Given the description of an element on the screen output the (x, y) to click on. 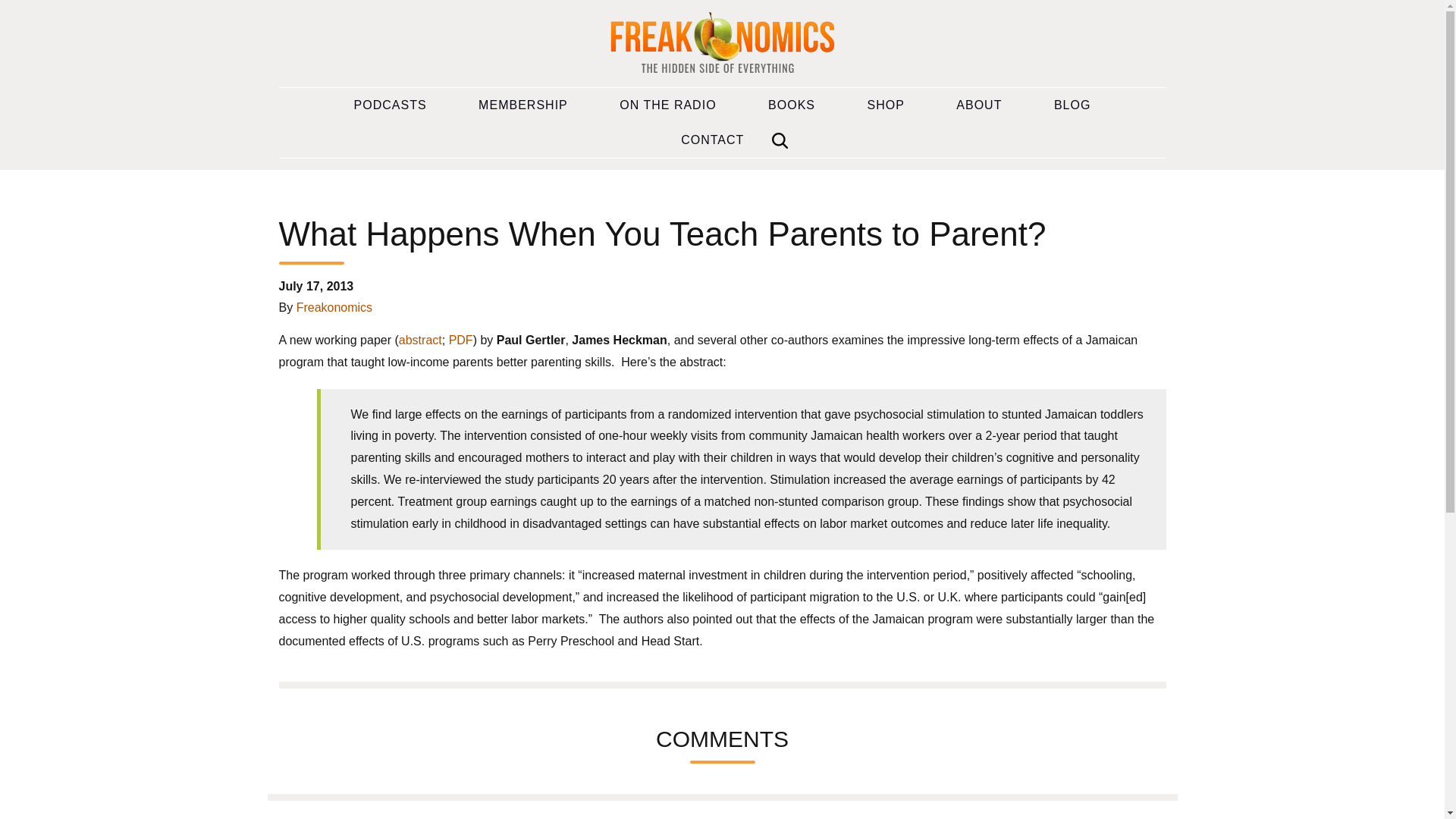
BLOG (1072, 104)
PDF (460, 339)
ON THE RADIO (667, 104)
PODCASTS (390, 104)
BOOKS (792, 104)
abstract (420, 339)
CONTACT (712, 140)
ABOUT (978, 104)
Return to homepage (722, 43)
Freakonomics (334, 307)
SHOP (885, 104)
MEMBERSHIP (523, 104)
